Given the description of an element on the screen output the (x, y) to click on. 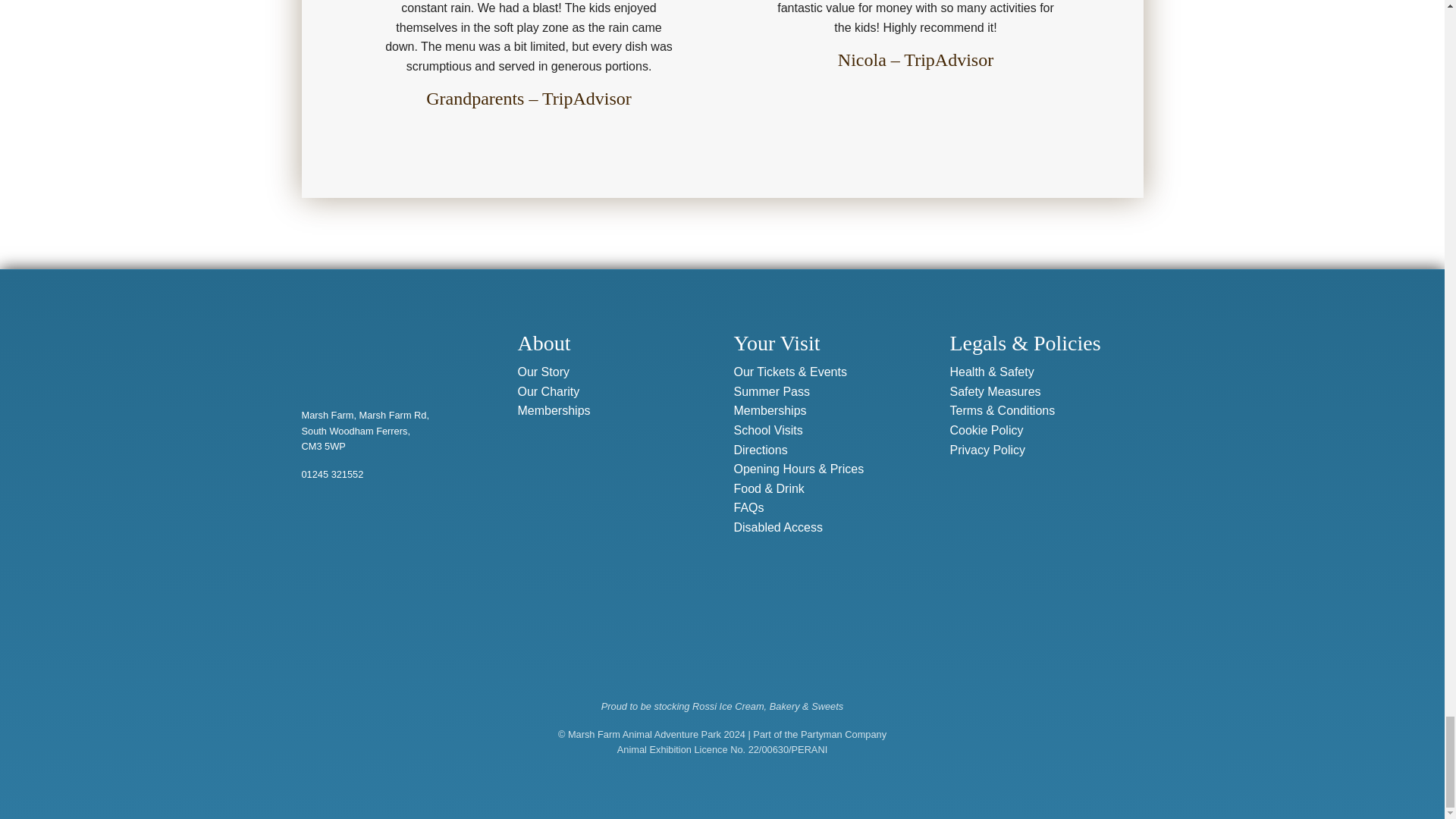
Our Story (542, 370)
Our Charity (547, 390)
Memberships (552, 410)
Marsh Farm - Animal Adventure Park (379, 347)
